Given the description of an element on the screen output the (x, y) to click on. 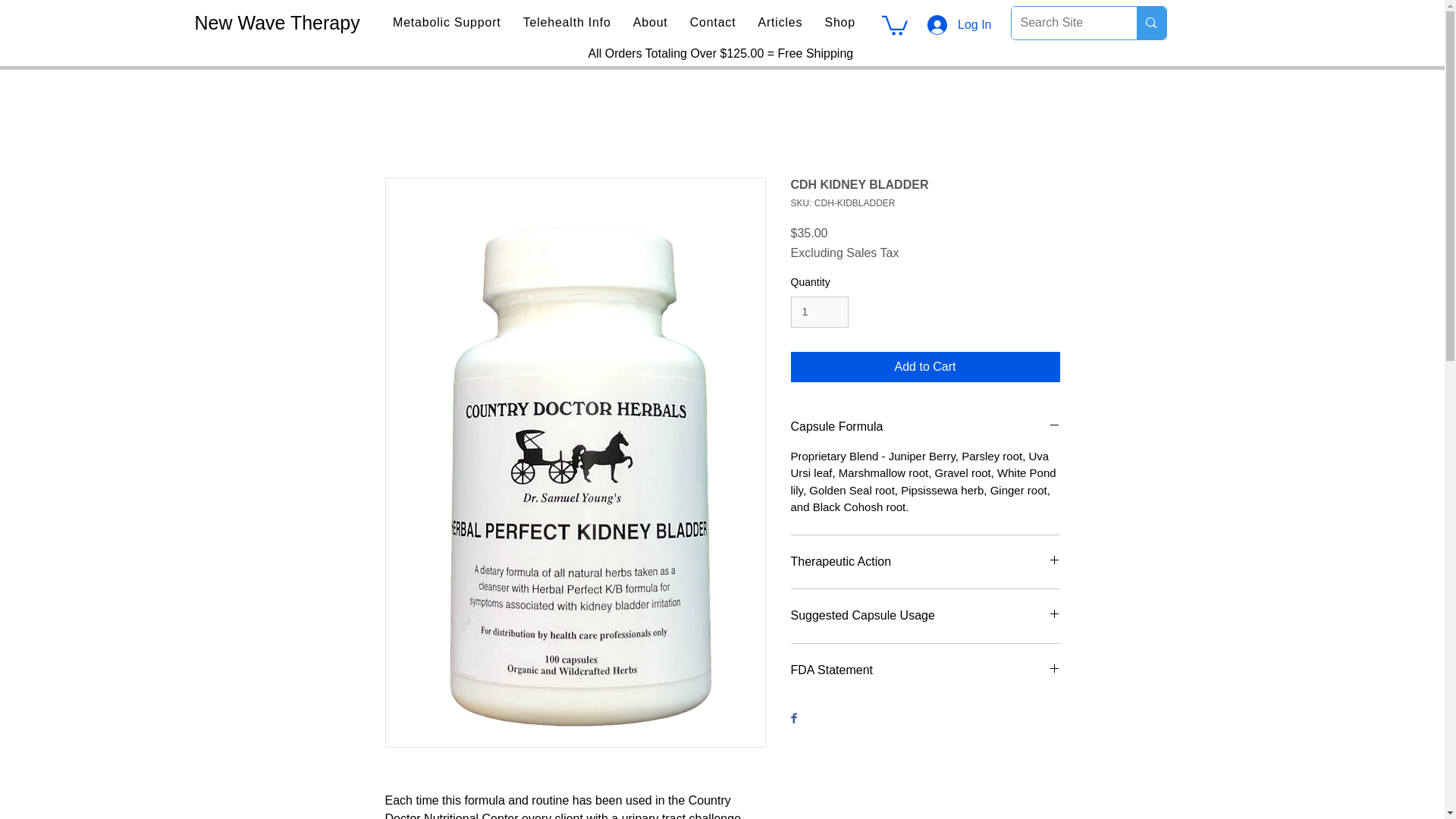
Therapeutic Action (924, 561)
Capsule Formula (924, 426)
About (649, 22)
Shop (839, 22)
Telehealth Info (566, 22)
Metabolic Support (447, 22)
Log In (959, 24)
Add to Cart (924, 367)
Suggested Capsule Usage (924, 615)
New Wave Therapy (276, 22)
